Given the description of an element on the screen output the (x, y) to click on. 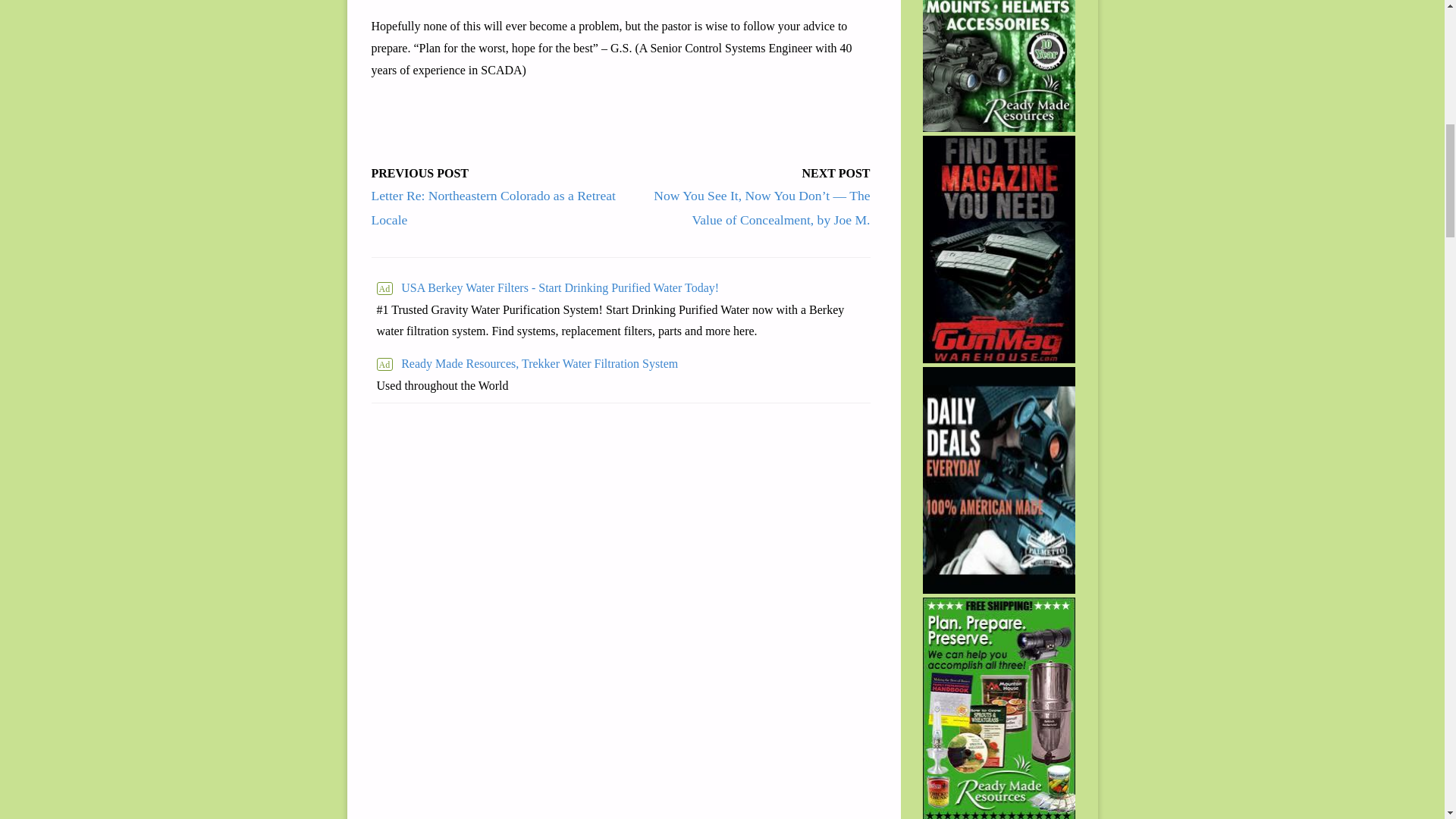
A Portable Water Treatment Plant (526, 363)
USA Berkey Filters (619, 288)
Ready Made Resources (999, 65)
